Given the description of an element on the screen output the (x, y) to click on. 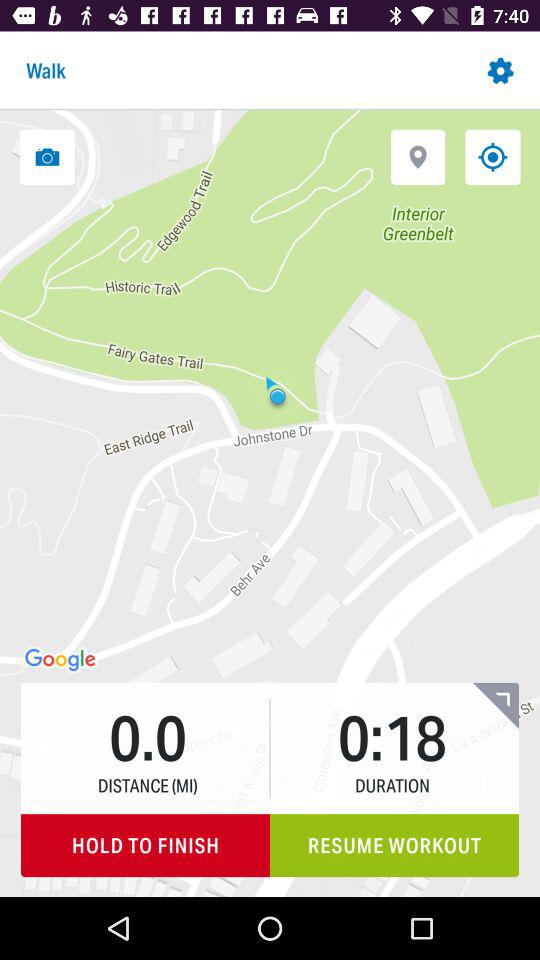
tap item to the left of resume workout item (145, 845)
